Given the description of an element on the screen output the (x, y) to click on. 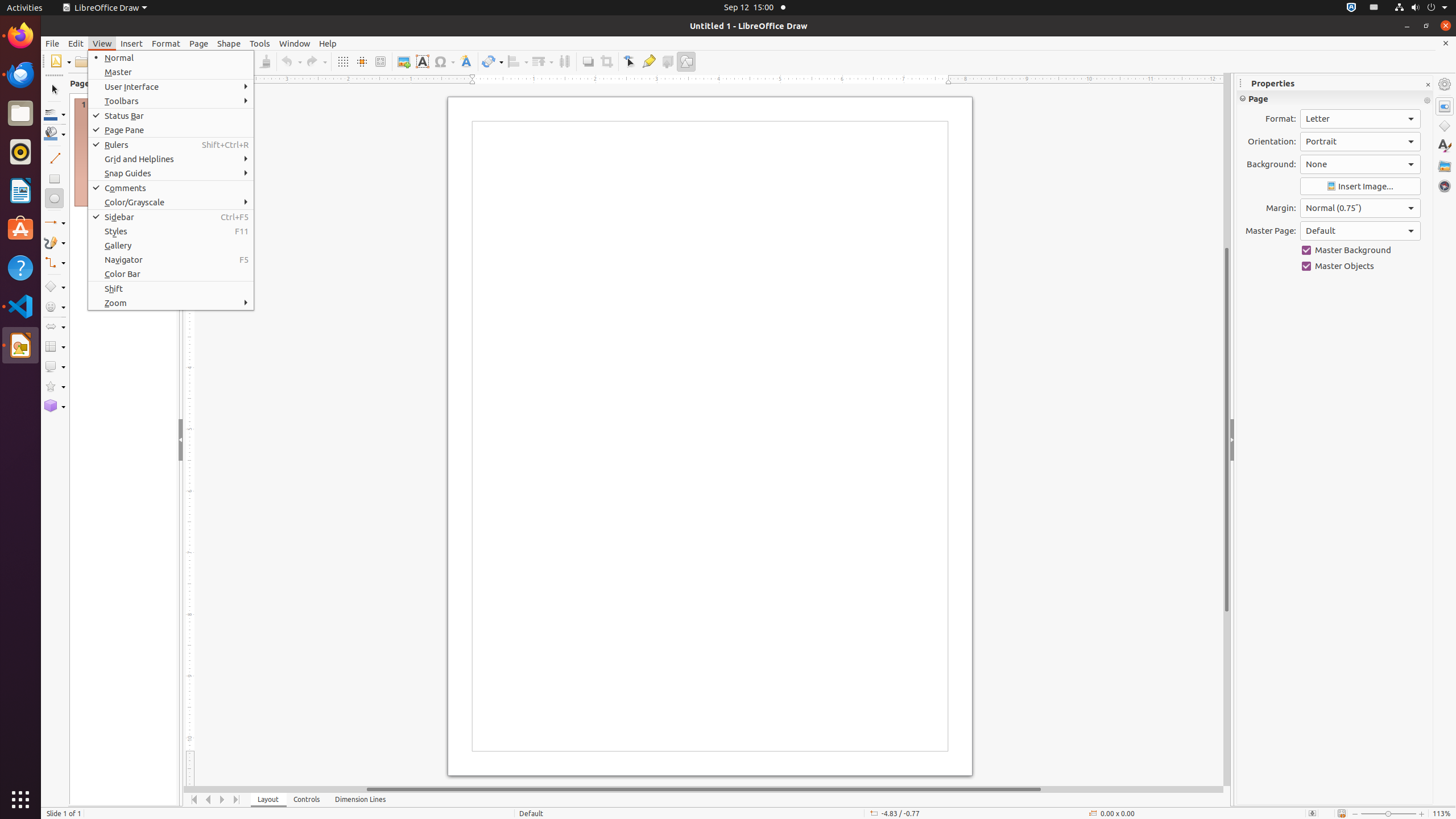
Visual Studio Code Element type: push-button (20, 306)
System Element type: menu (1420, 7)
Draw Functions Element type: toggle-button (685, 61)
Files Element type: push-button (20, 113)
Background: Element type: combo-box (1360, 164)
